Given the description of an element on the screen output the (x, y) to click on. 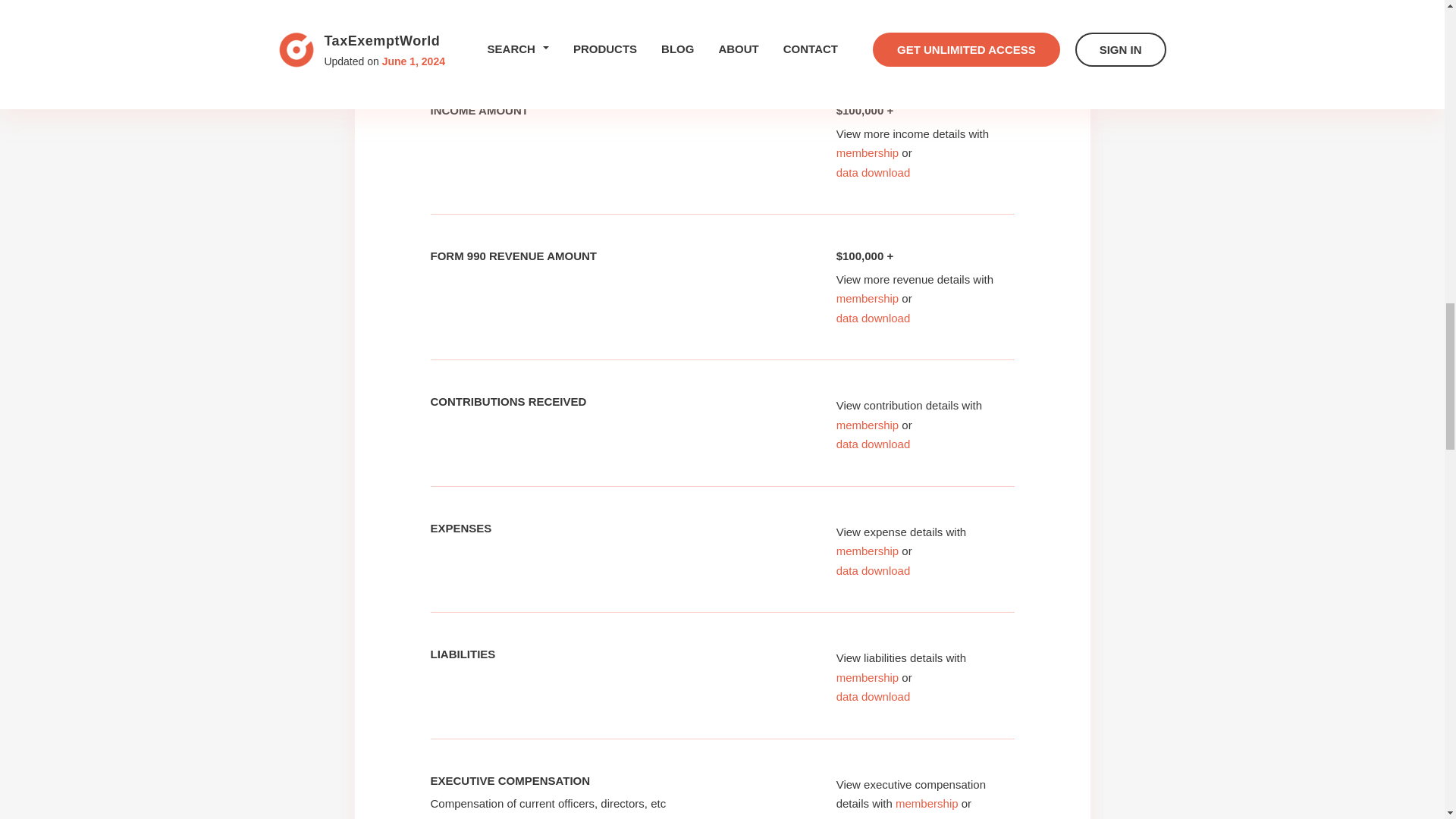
membership (867, 152)
membership (867, 6)
data download (873, 26)
